Given the description of an element on the screen output the (x, y) to click on. 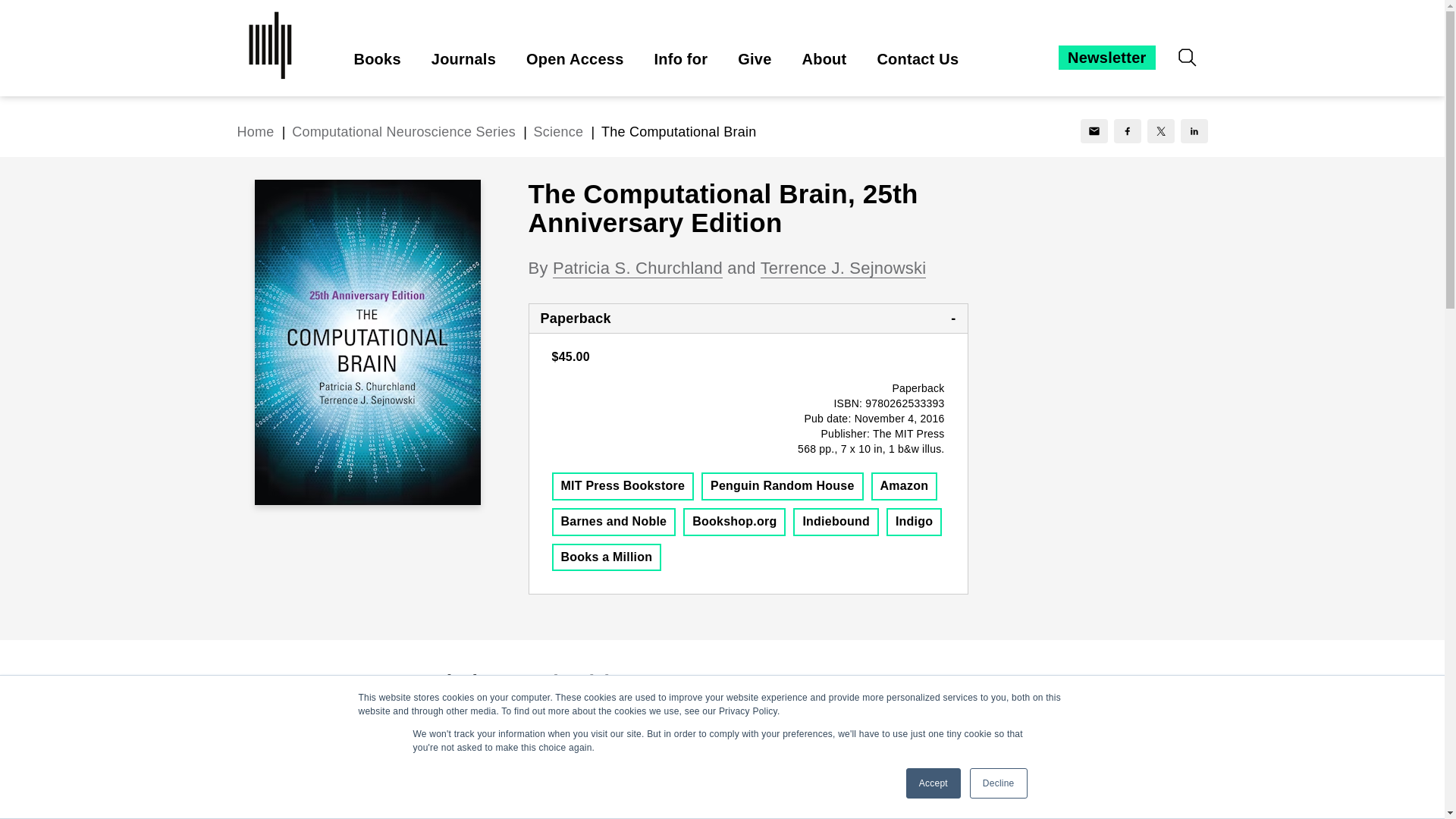
Back to homepage (254, 131)
Accept (932, 783)
View results for Computational Neuroscience Series (405, 131)
Newsletter (1106, 57)
View results for science (558, 131)
Open Access (574, 60)
Books (376, 60)
Decline (998, 783)
Journals (463, 60)
